Given the description of an element on the screen output the (x, y) to click on. 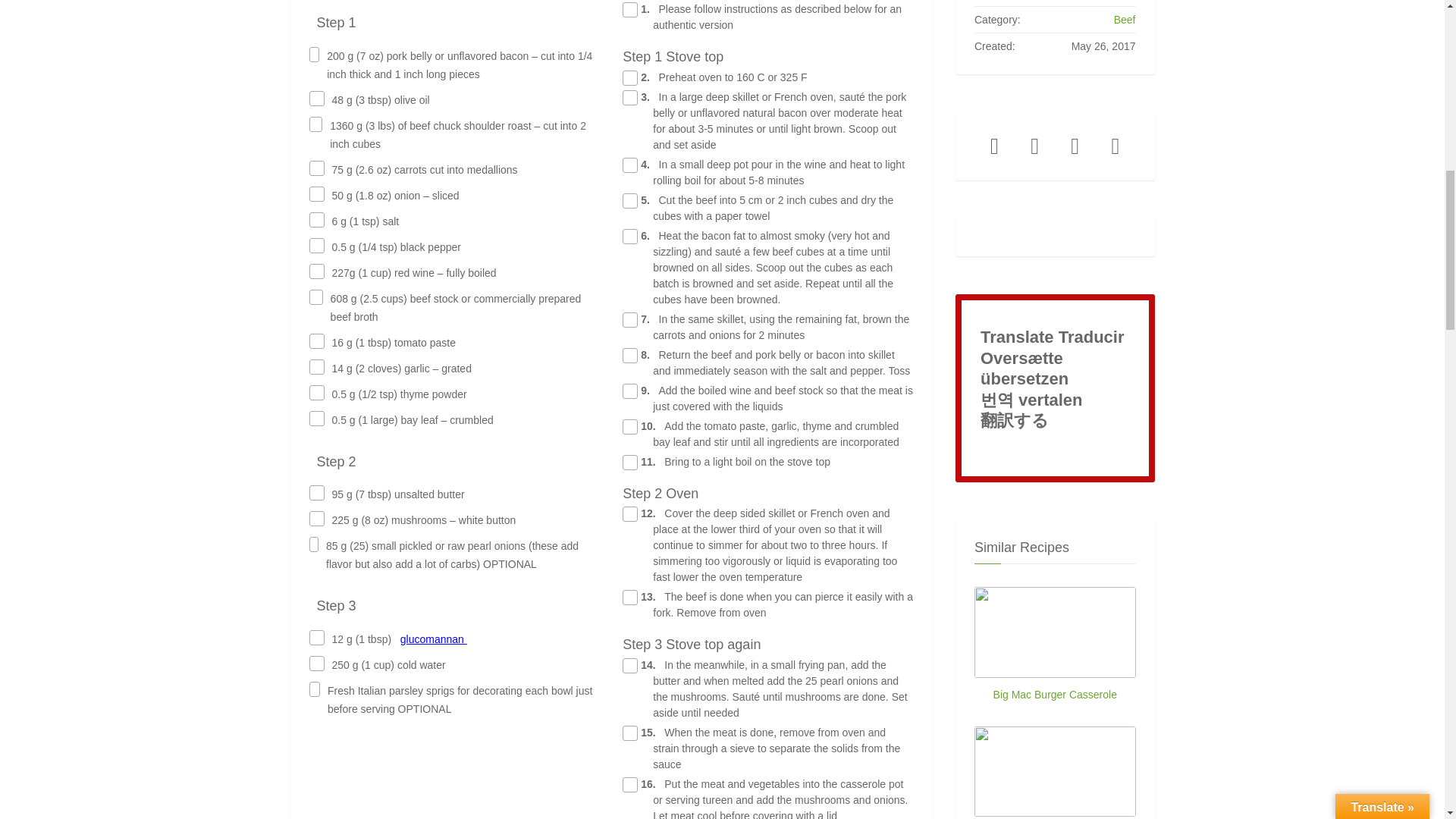
Italian (1041, 448)
English (991, 448)
Spanish (1016, 448)
Portuguese (1066, 448)
